Given the description of an element on the screen output the (x, y) to click on. 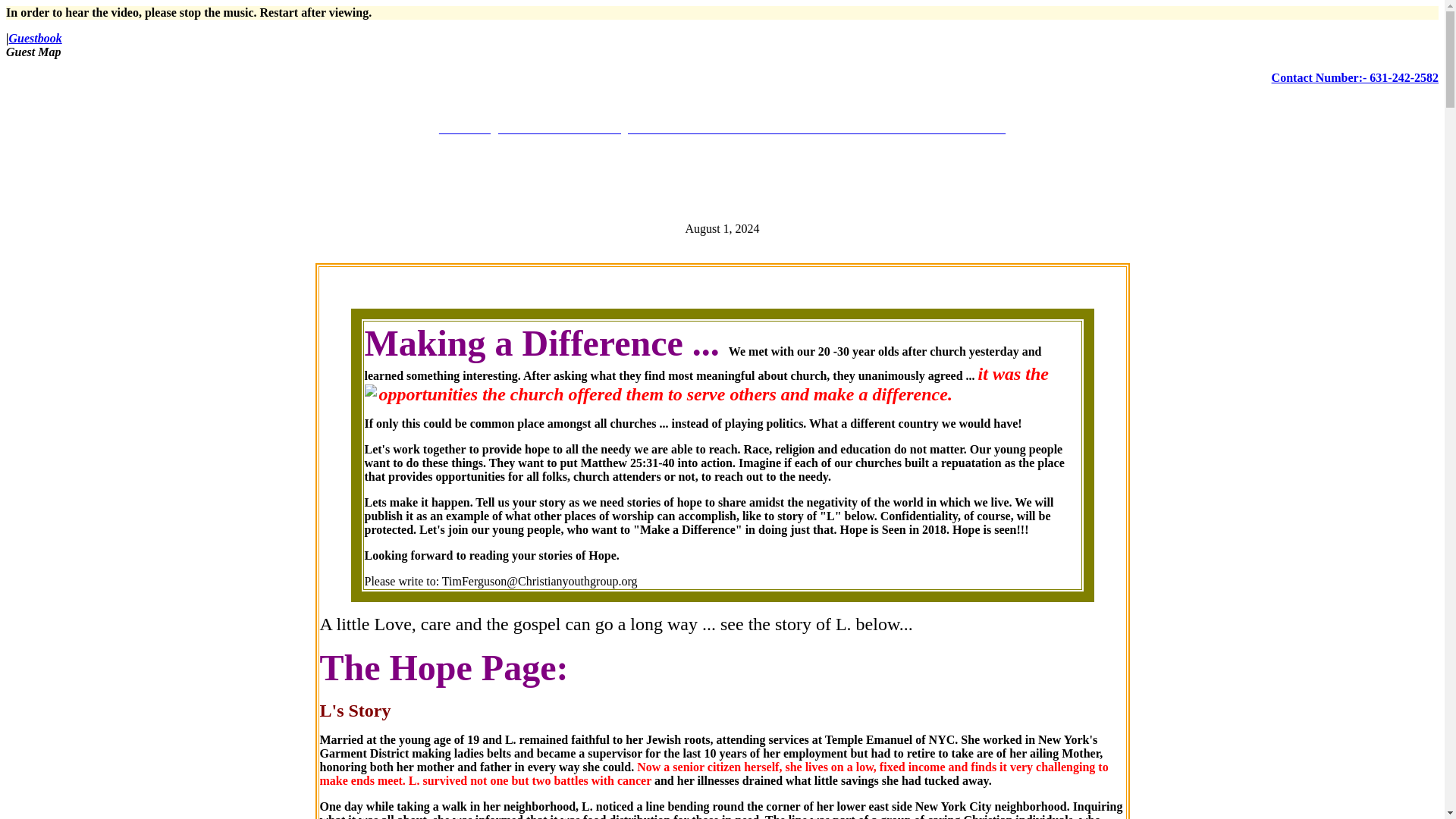
Guest Map (33, 51)
Empowering Christian Youth Leaders (722, 128)
Contact Number:- 631-242-2582 (1354, 77)
Guestbook (35, 38)
